Given the description of an element on the screen output the (x, y) to click on. 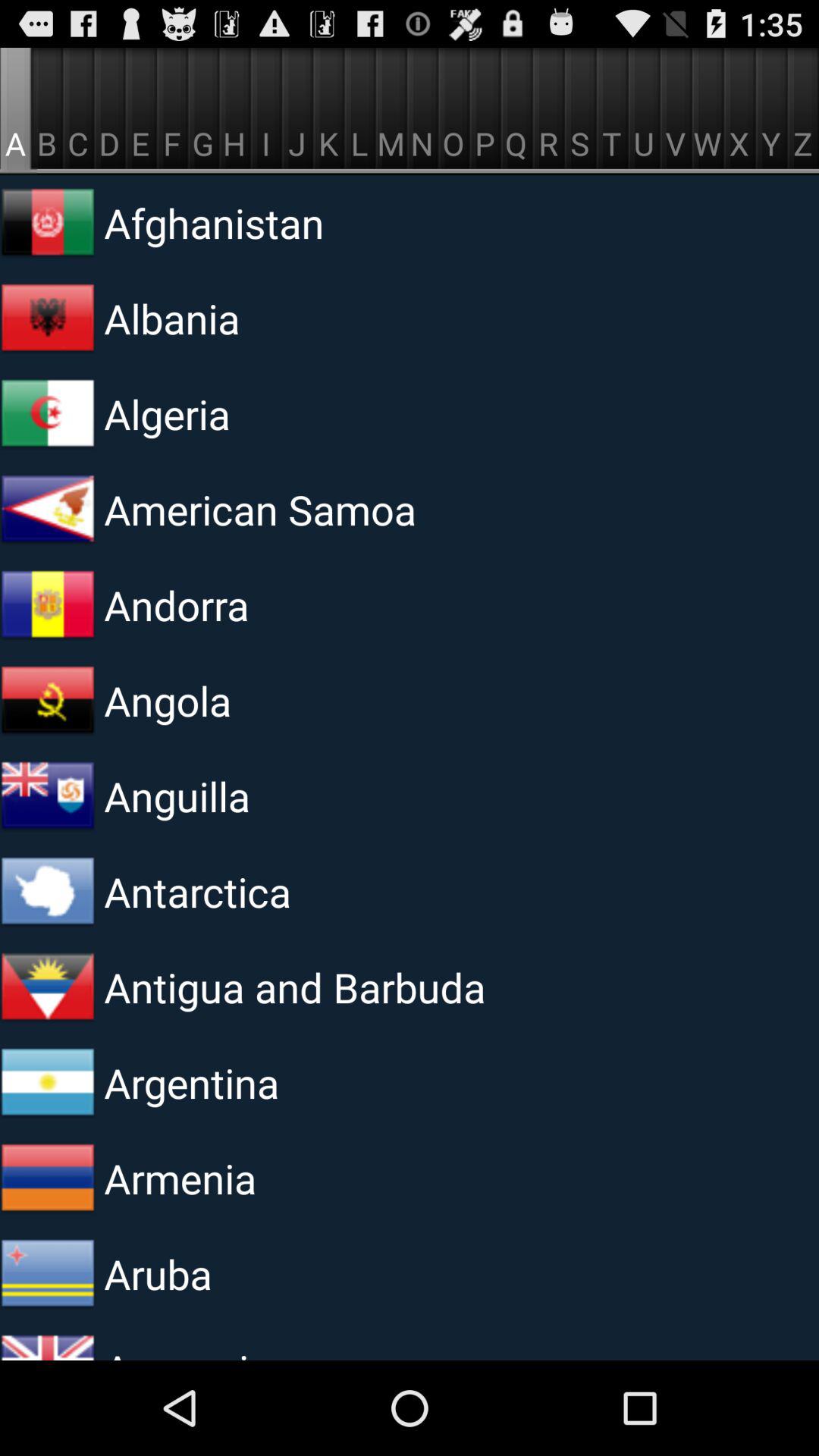
scroll until the armenia app (290, 1177)
